Given the description of an element on the screen output the (x, y) to click on. 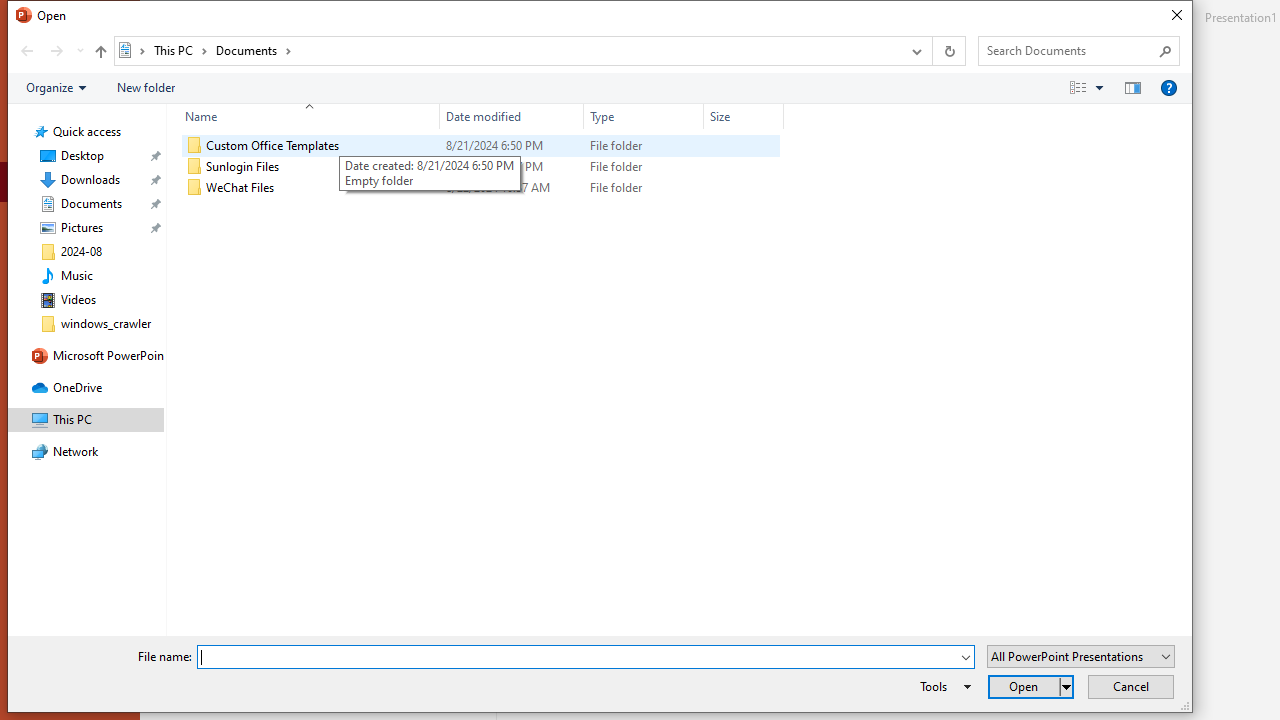
Recent locations (79, 51)
View Slider (1099, 87)
Command Module (599, 87)
Size (743, 187)
Type (643, 187)
Back (Alt + Left Arrow) (26, 51)
&Help (1168, 87)
Tools (942, 686)
Files of type: (1080, 656)
Navigation buttons (50, 51)
Filter dropdown (775, 115)
New folder (145, 87)
Tools (942, 686)
